Given the description of an element on the screen output the (x, y) to click on. 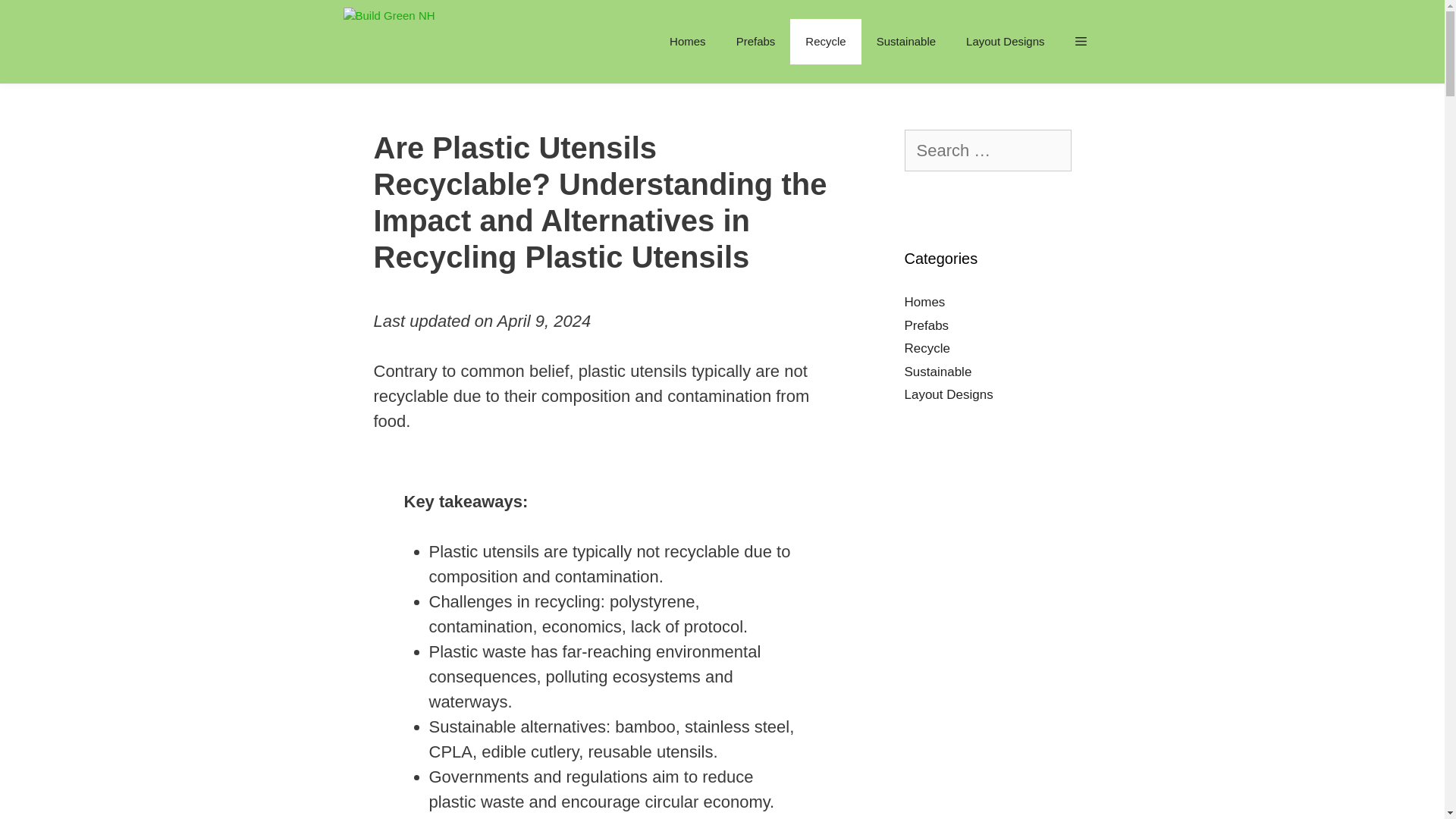
Prefabs (755, 41)
Search for: (987, 150)
Homes (686, 41)
Layout Designs (1004, 41)
Sustainable (905, 41)
Build Green NH (387, 41)
Recycle (825, 41)
Search (42, 20)
Build Green NH (392, 41)
